Given the description of an element on the screen output the (x, y) to click on. 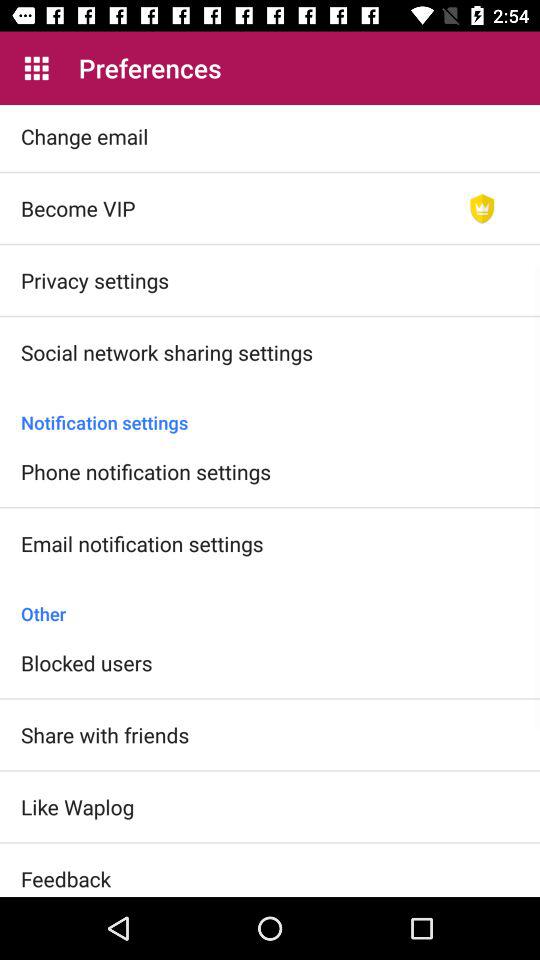
flip to feedback icon (66, 878)
